Given the description of an element on the screen output the (x, y) to click on. 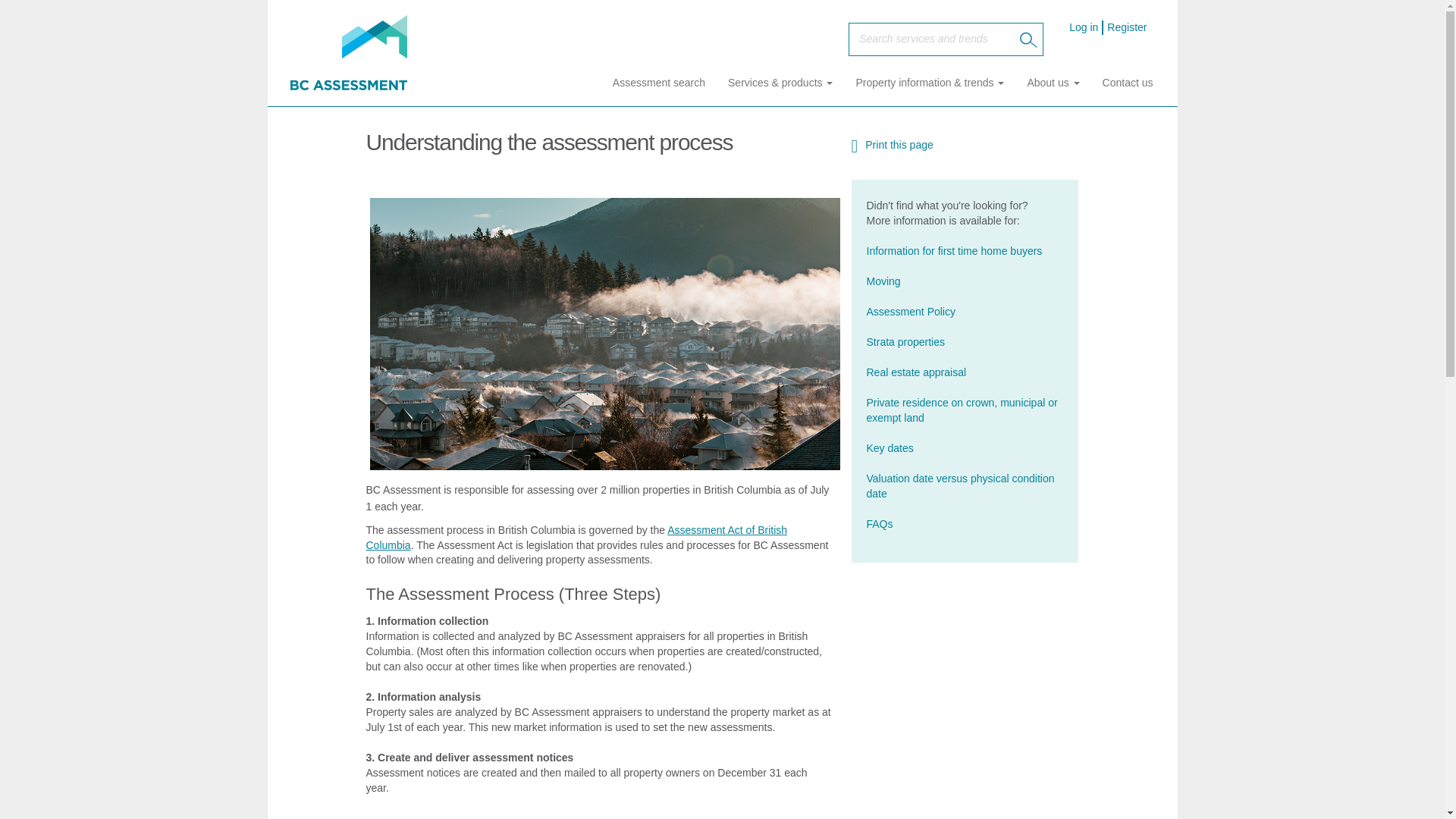
Log in (1078, 27)
Register (1128, 27)
Assessment search (658, 82)
About us (1052, 82)
